Given the description of an element on the screen output the (x, y) to click on. 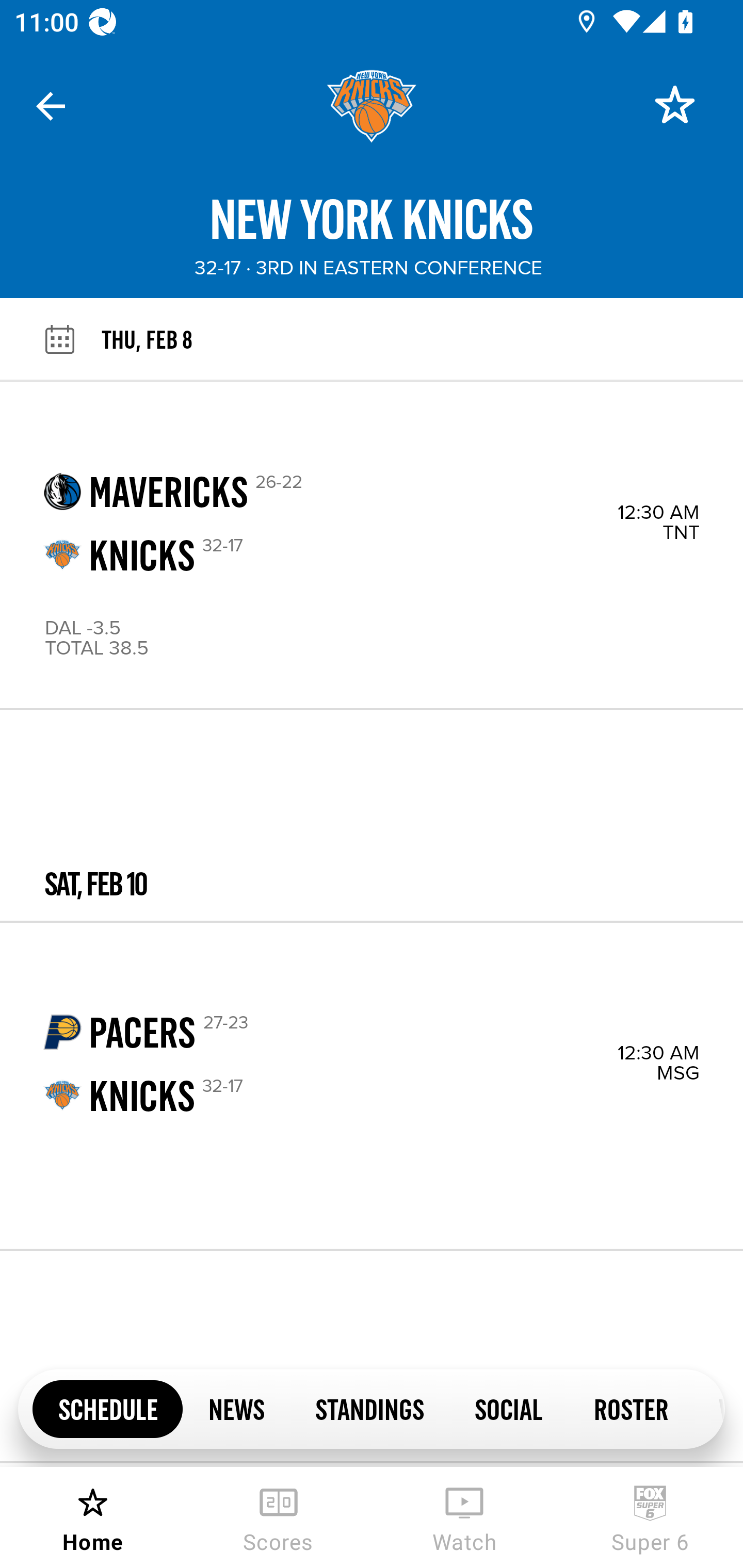
Navigate up (50, 106)
32-17 · 3RD IN EASTERN CONFERENCE (368, 267)
THU, FEB 8 (422, 339)
SAT, FEB 10 (371, 815)
PACERS 27-23 12:30 AM KNICKS 32-17 MSG (371, 1084)
NEWS (235, 1408)
STANDINGS (369, 1408)
SOCIAL (508, 1408)
ROSTER (630, 1408)
Scores (278, 1517)
Watch (464, 1517)
Super 6 (650, 1517)
